Given the description of an element on the screen output the (x, y) to click on. 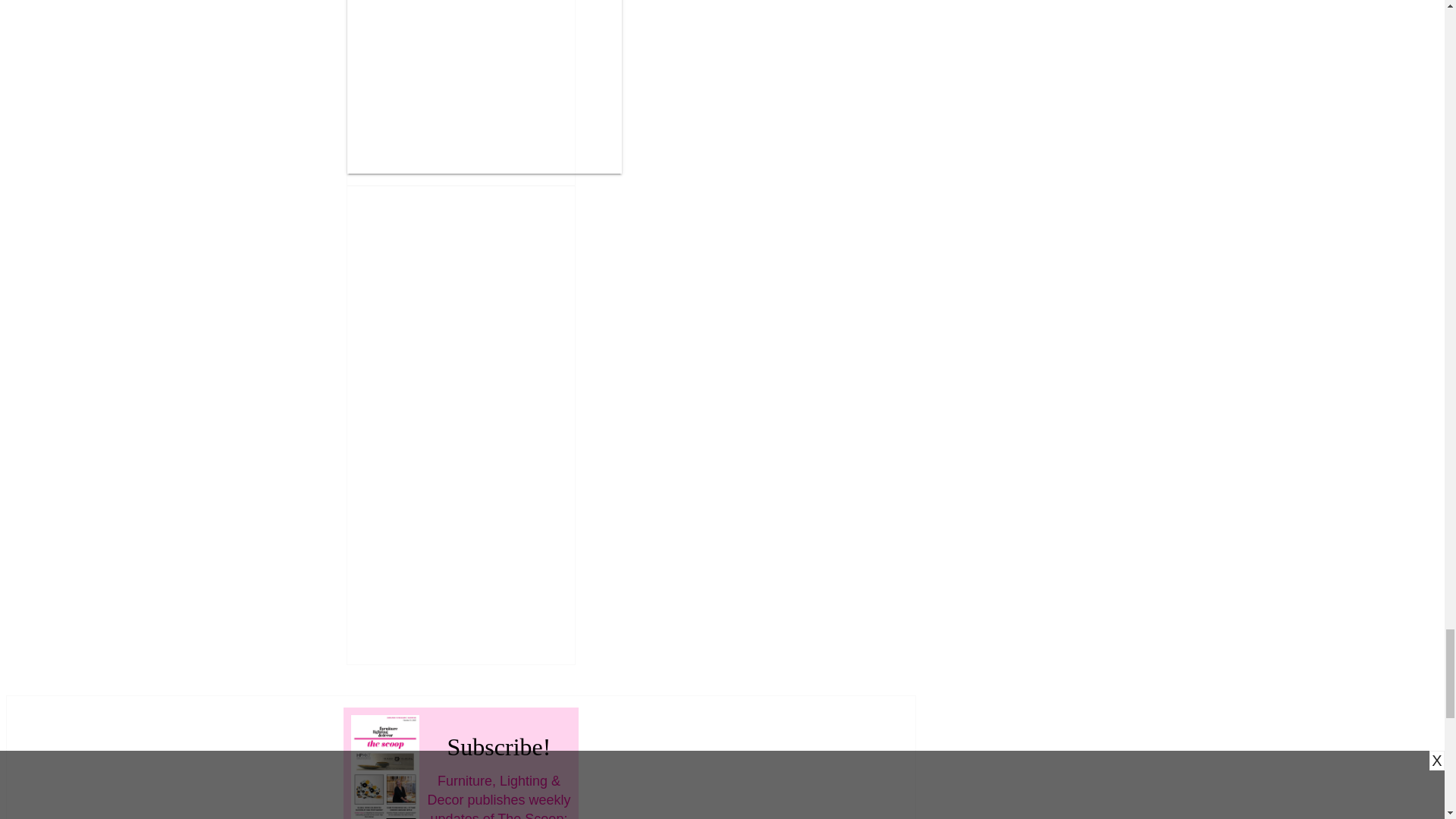
3rd party ad content (484, 81)
